Given the description of an element on the screen output the (x, y) to click on. 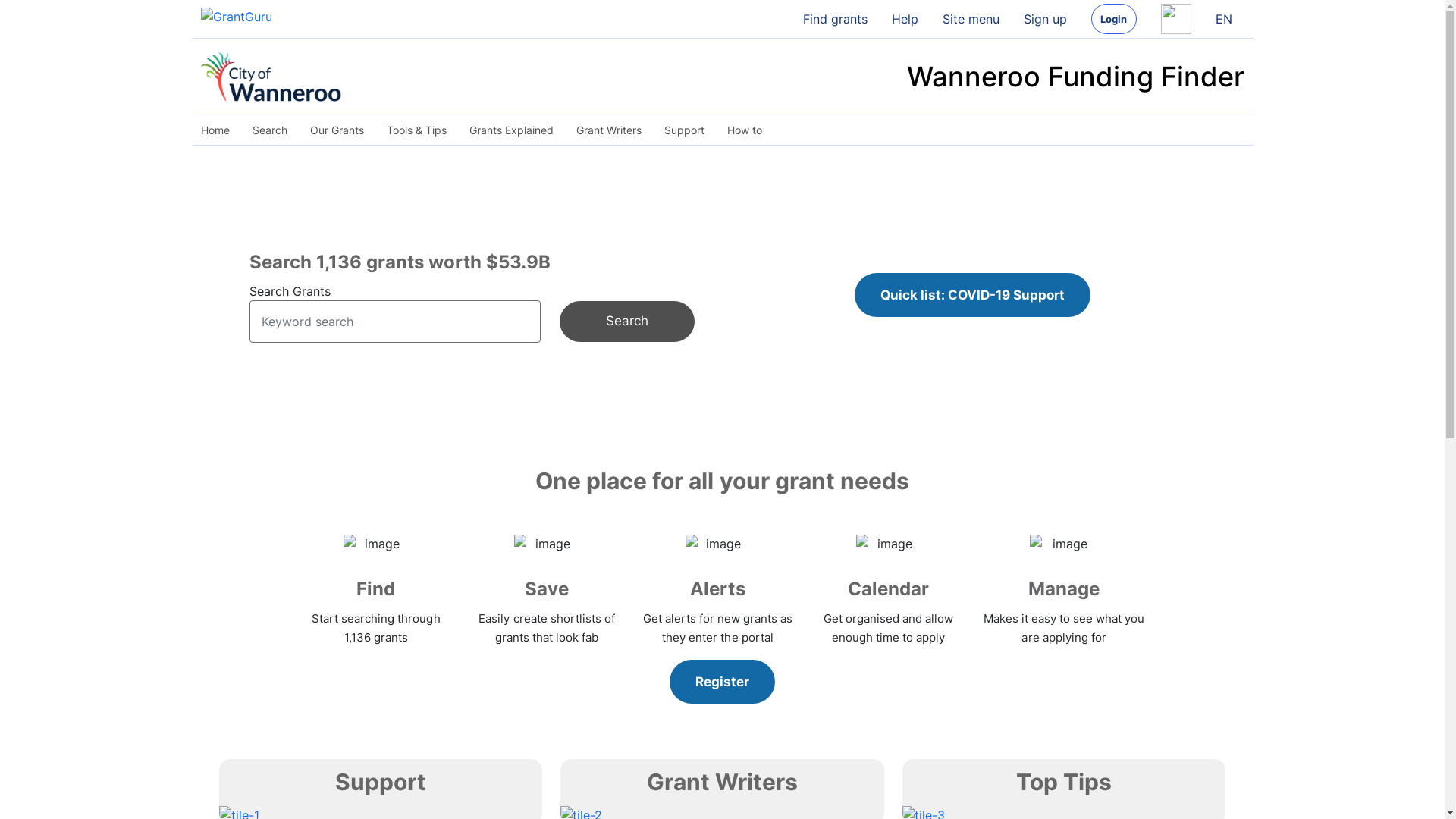
How to Element type: text (744, 129)
Tools & Tips Element type: text (415, 129)
Grant Writers Element type: text (608, 129)
Register Element type: text (722, 681)
Search Element type: text (269, 129)
Login Element type: text (1113, 18)
Find grants Element type: text (834, 18)
EN Element type: text (1222, 18)
Site menu Element type: text (969, 18)
Help Element type: text (904, 18)
Sign up Element type: text (1044, 18)
Grants Explained Element type: text (511, 129)
Support Element type: text (683, 129)
Our Grants Element type: text (336, 129)
Home Element type: text (220, 129)
Search Element type: text (626, 321)
Quick list: COVID-19 Support Element type: text (972, 294)
